Given the description of an element on the screen output the (x, y) to click on. 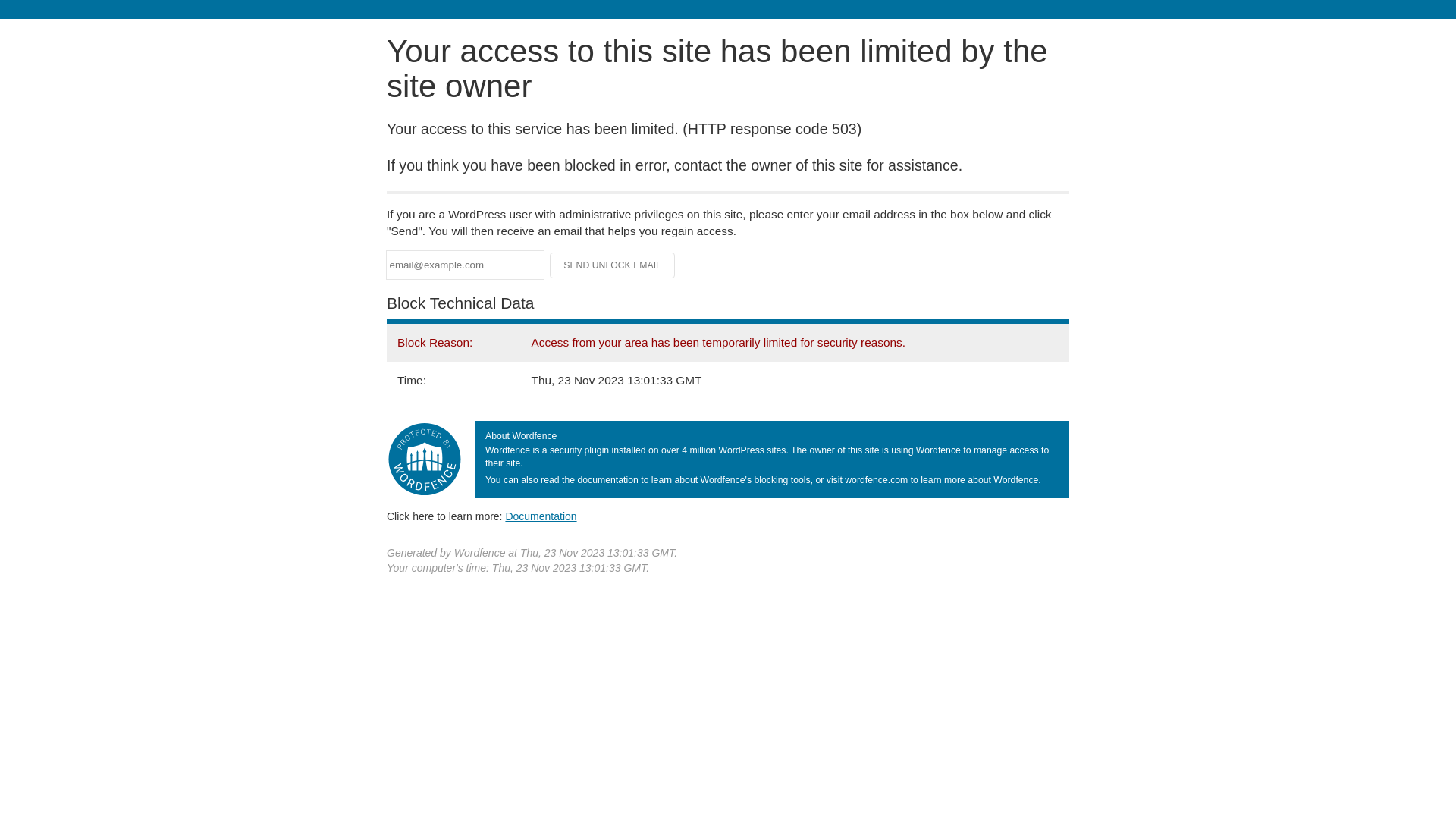
Send Unlock Email Element type: text (612, 265)
Documentation Element type: text (540, 516)
